Given the description of an element on the screen output the (x, y) to click on. 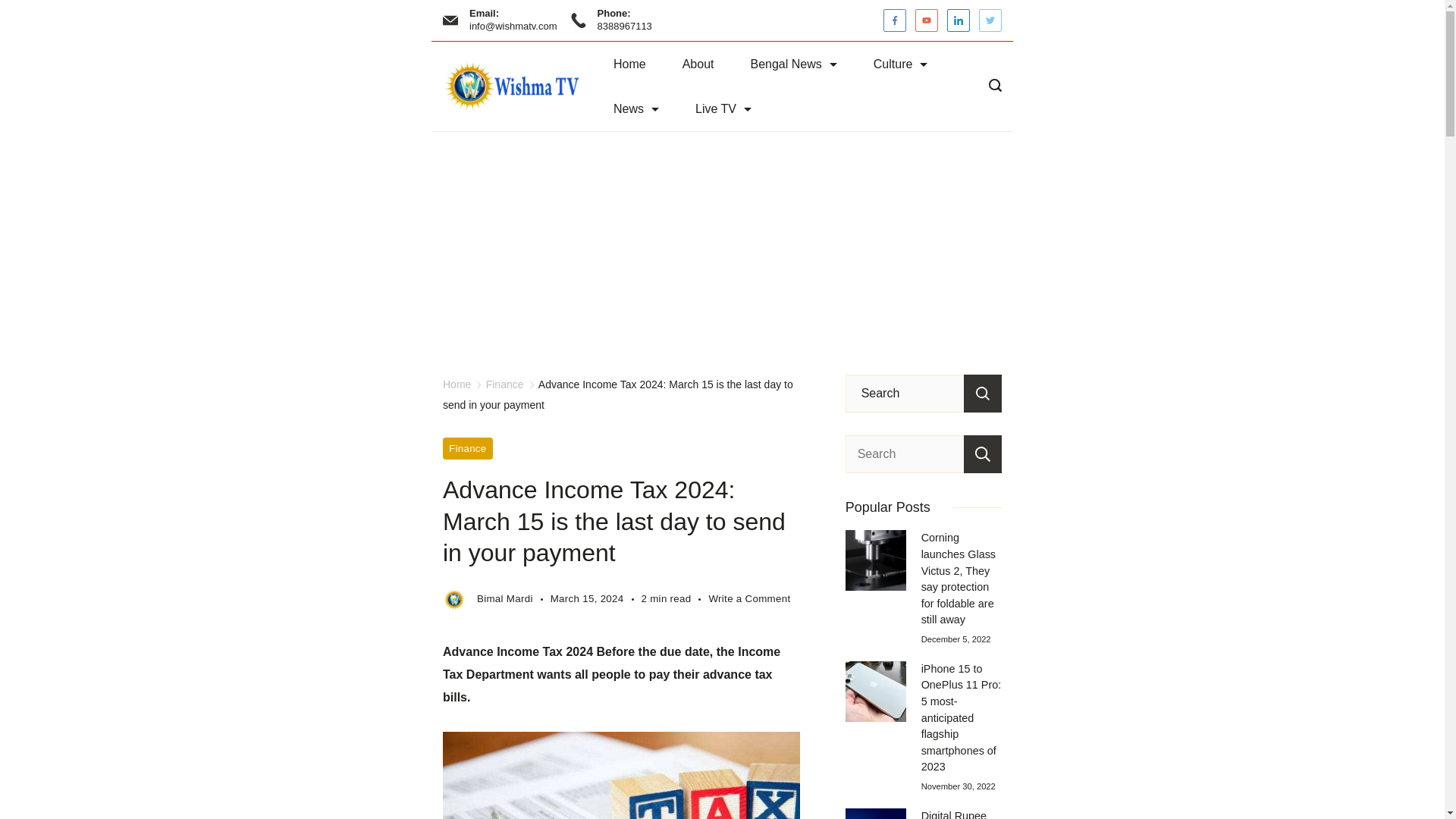
Search Input (923, 393)
Bengal News (794, 63)
Live TV (723, 108)
8388967113 (624, 25)
Home (629, 63)
Search (982, 393)
Search (982, 393)
About (697, 63)
Culture (901, 63)
News (636, 108)
